Given the description of an element on the screen output the (x, y) to click on. 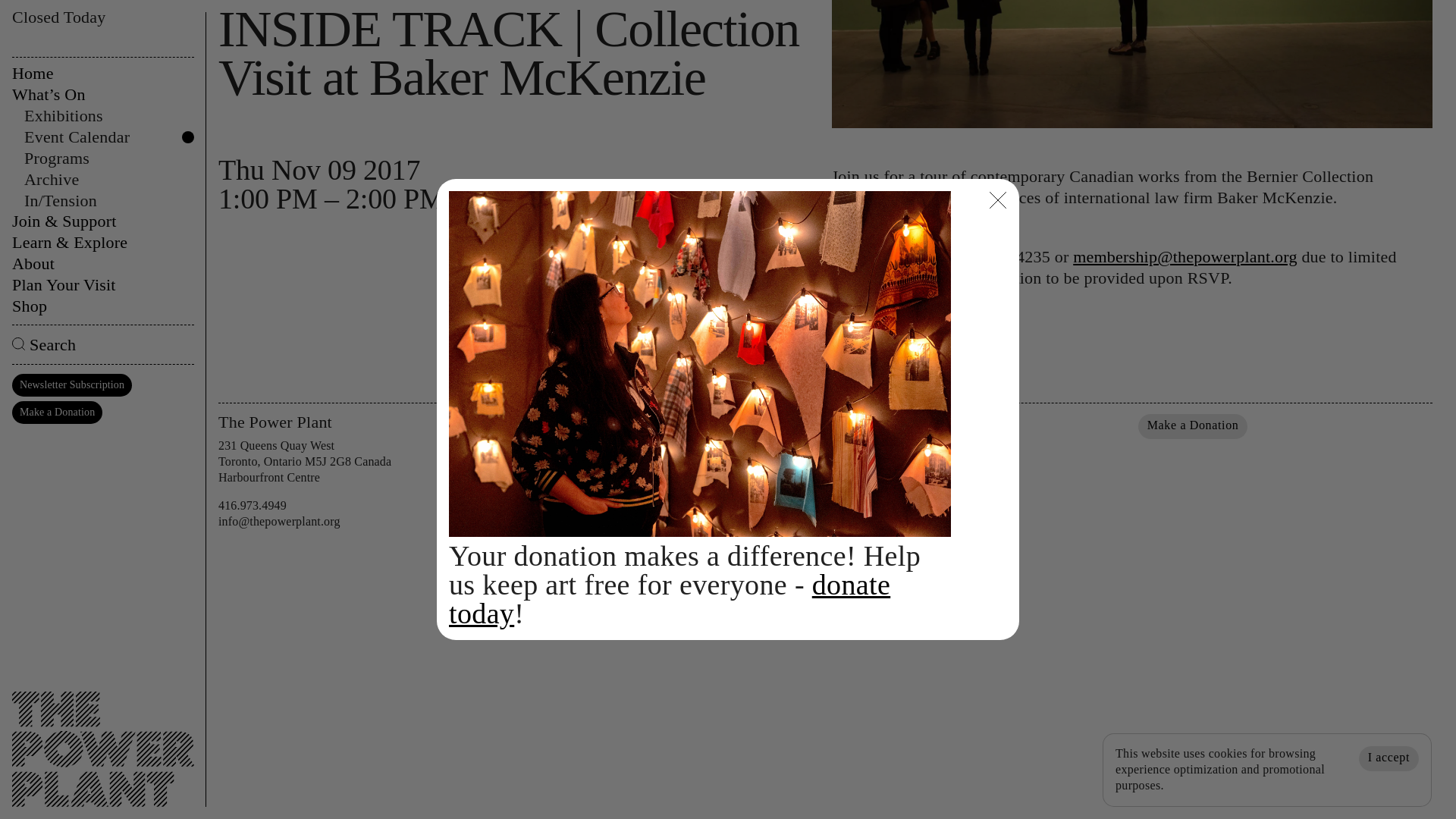
Make a Donation (56, 108)
Make a Donation (1192, 426)
I accept (1388, 455)
Subscribe to our Newsletter (914, 426)
Search (102, 42)
Go to the PowerPlant homepage (102, 434)
Shop (102, 6)
donate today (668, 295)
Newsletter Subscription (71, 81)
